Given the description of an element on the screen output the (x, y) to click on. 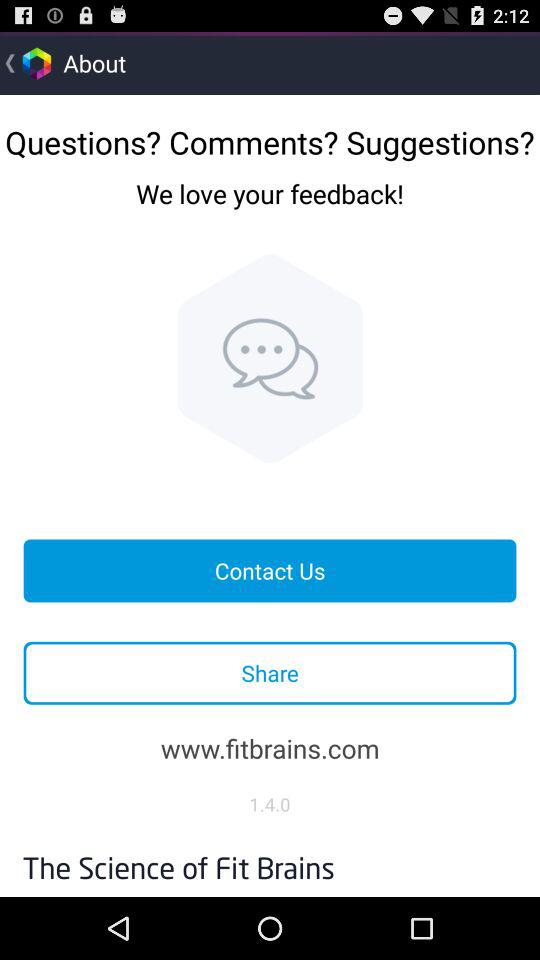
scroll to the 1.4.0 (270, 803)
